Given the description of an element on the screen output the (x, y) to click on. 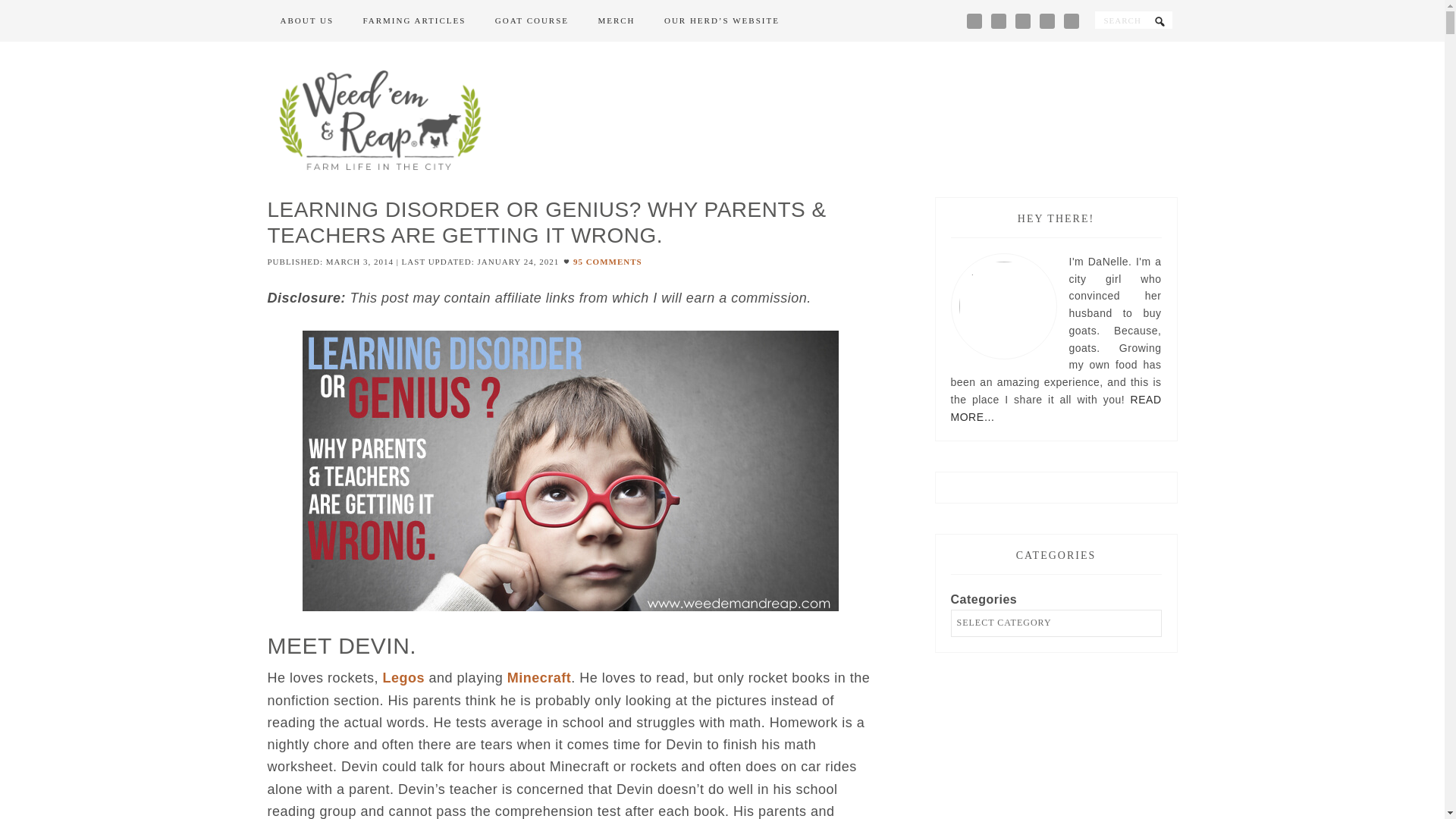
ABOUT US (306, 20)
YouTube (1071, 20)
Instagram (998, 20)
Pinterest (1022, 20)
GOAT COURSE (530, 20)
Twitter (1047, 20)
Facebook (974, 20)
FARMING ARTICLES (414, 20)
